Given the description of an element on the screen output the (x, y) to click on. 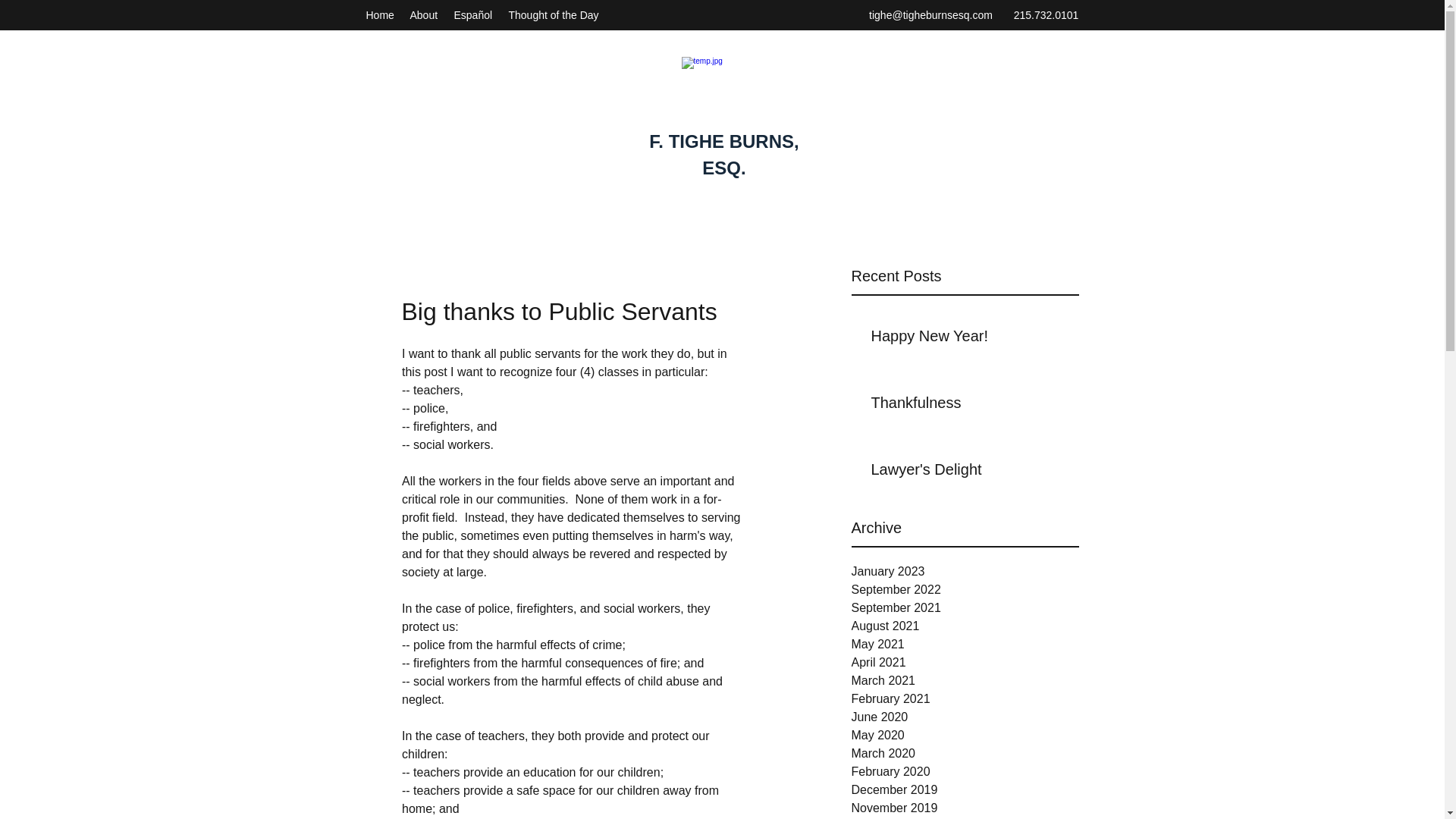
March 2020 (964, 753)
Lawyer's Delight (969, 472)
April 2021 (964, 662)
February 2021 (964, 699)
Thought of the Day (554, 15)
January 2023 (964, 571)
February 2020 (964, 771)
May 2020 (964, 735)
Thankfulness (969, 405)
August 2021 (964, 626)
December 2019 (964, 790)
Happy New Year! (969, 338)
March 2021 (964, 680)
November 2019 (964, 808)
September 2022 (964, 589)
